Given the description of an element on the screen output the (x, y) to click on. 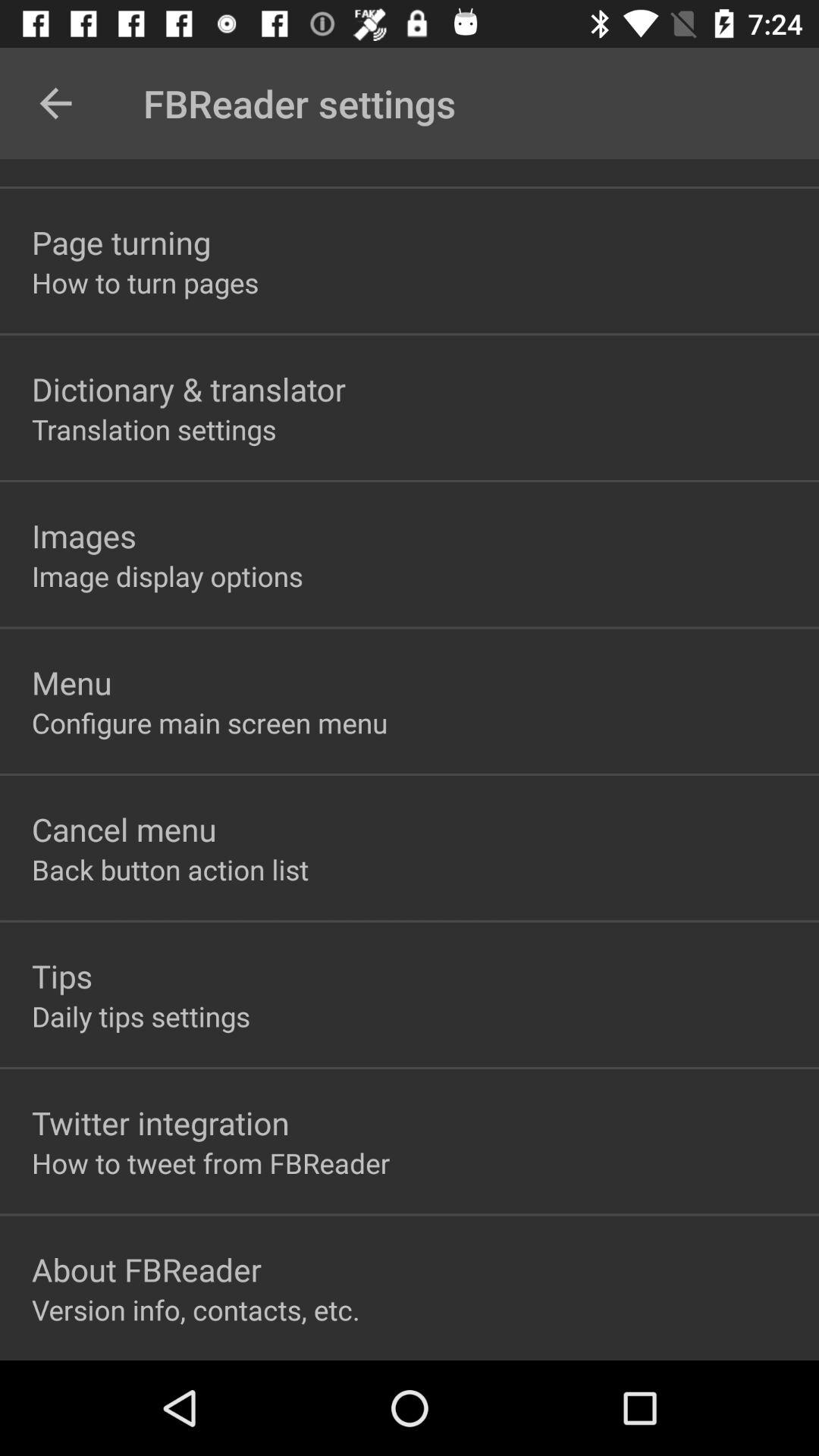
select icon above cancel menu item (209, 722)
